Given the description of an element on the screen output the (x, y) to click on. 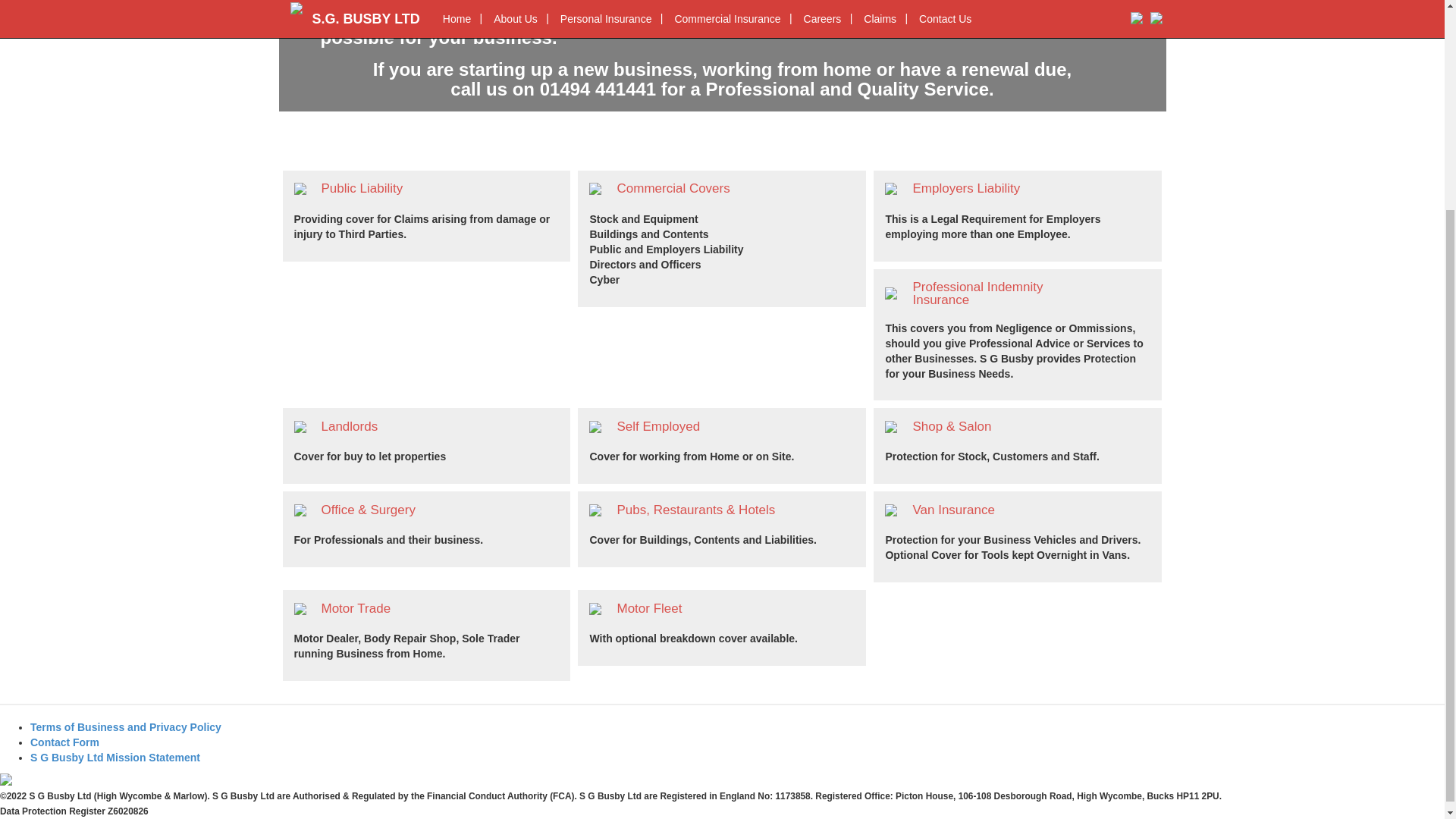
S G Busby Ltd Mission Statement (115, 757)
Terms of Business and Privacy Policy (125, 727)
Contact Form (64, 742)
